Given the description of an element on the screen output the (x, y) to click on. 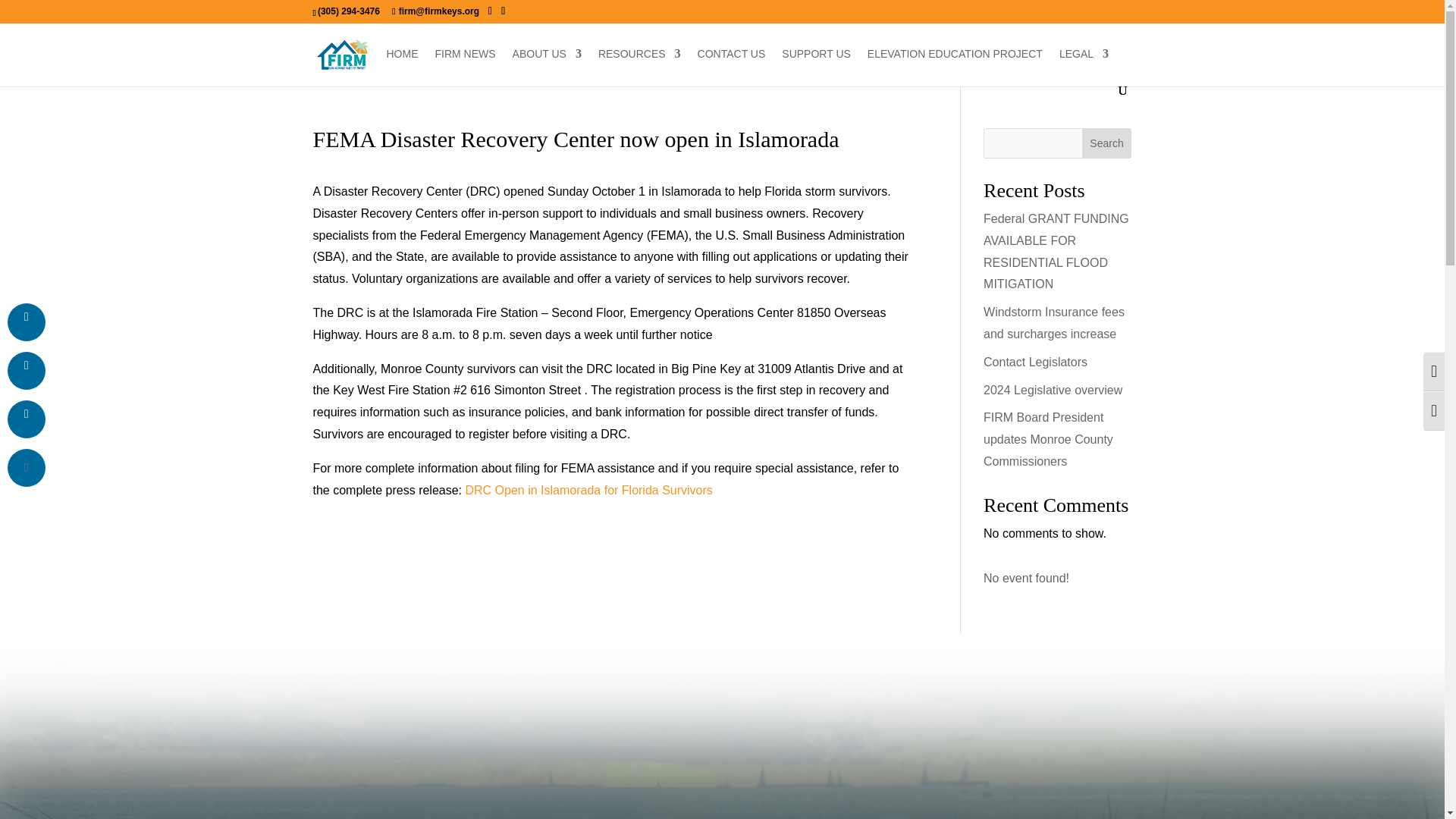
RESOURCES (639, 66)
LEGAL (1083, 66)
FIRM NEWS (465, 66)
HOME (403, 66)
CONTACT US (731, 66)
ELEVATION EDUCATION PROJECT (954, 66)
SUPPORT US (815, 66)
ABOUT US (546, 66)
